Given the description of an element on the screen output the (x, y) to click on. 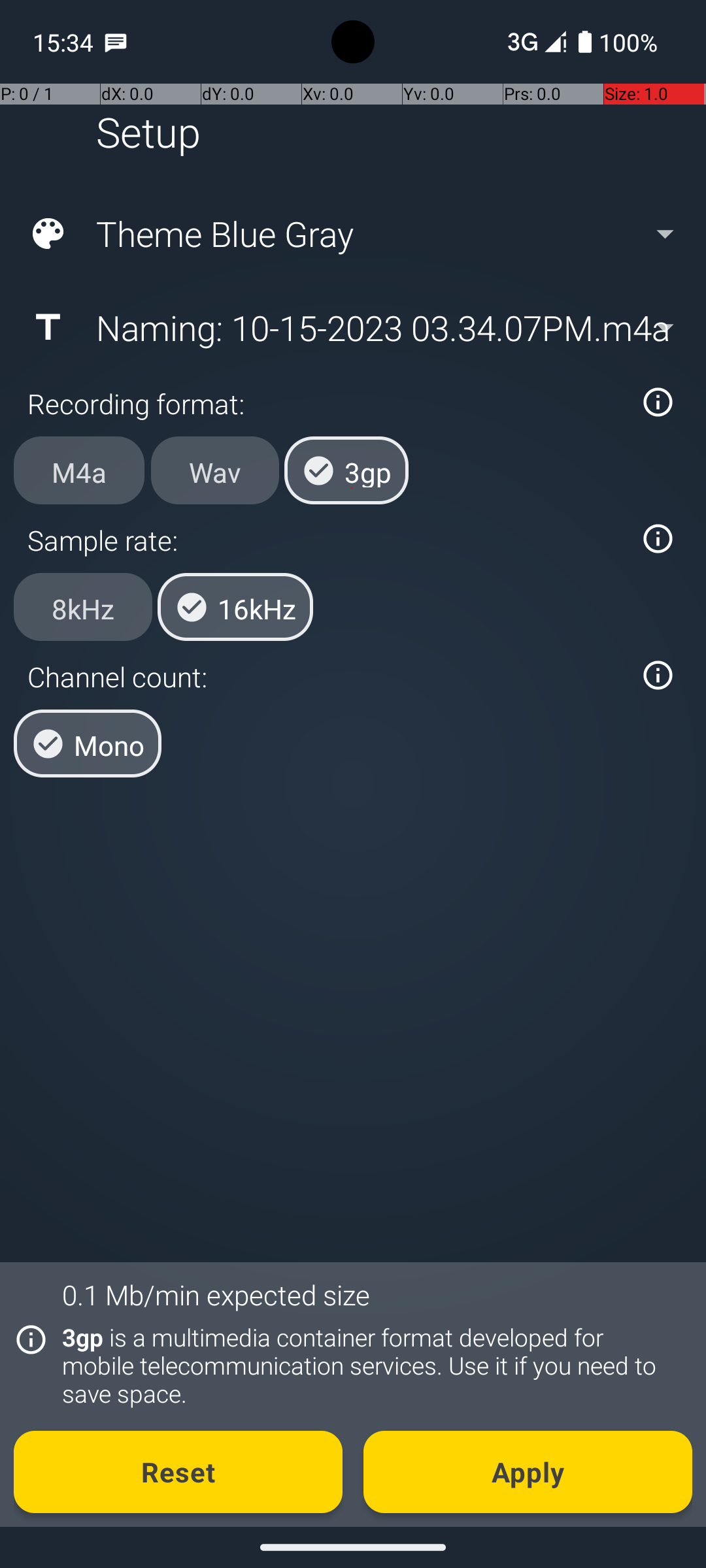
0.1 Mb/min expected size Element type: android.widget.TextView (215, 1294)
3gp is a multimedia container format developed for mobile telecommunication services. Use it if you need to save space. Element type: android.widget.TextView (370, 1364)
Naming: 10-15-2023 03.34.07PM.m4a Element type: android.widget.TextView (352, 327)
